Given the description of an element on the screen output the (x, y) to click on. 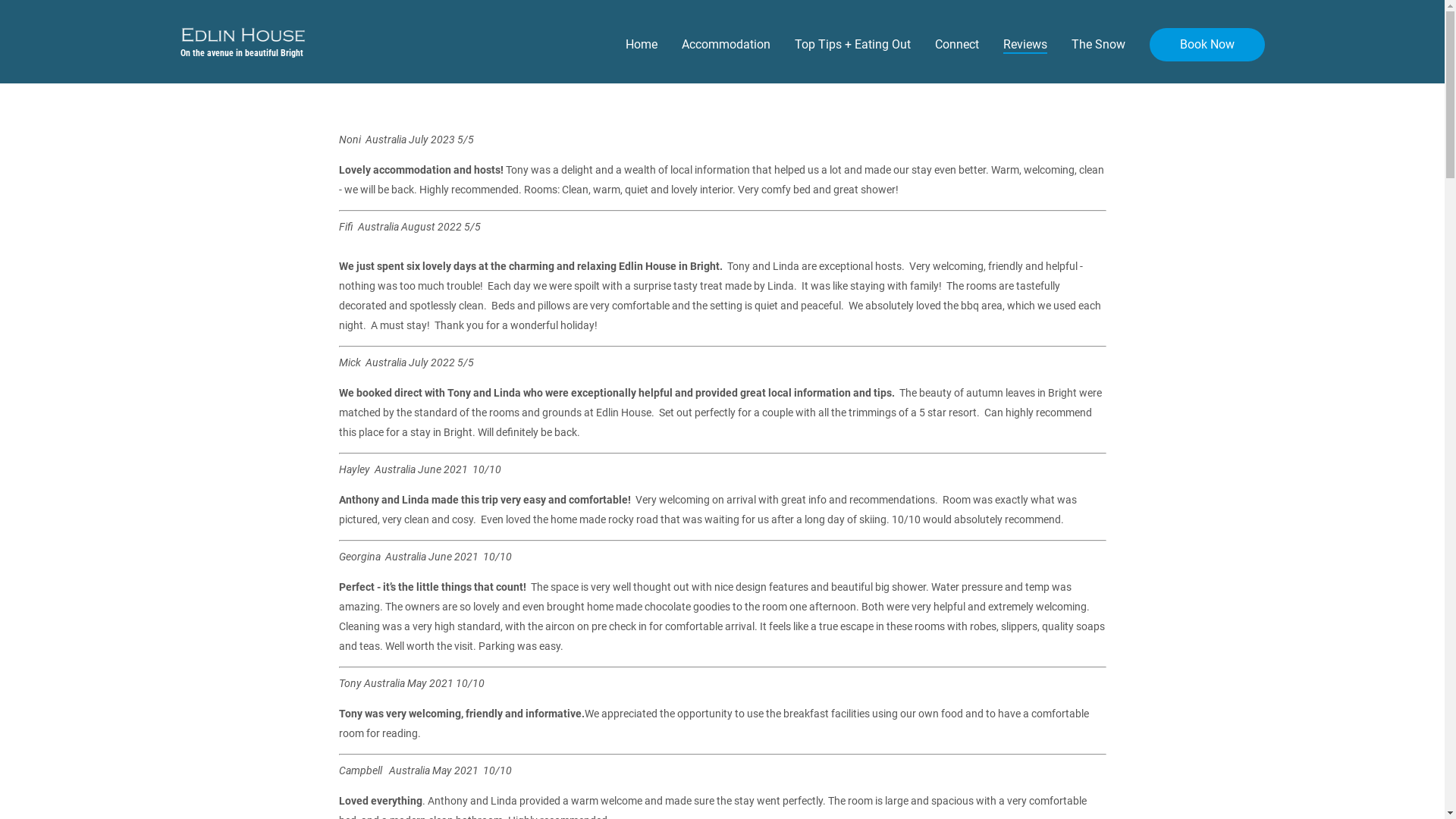
Accommodation Element type: text (724, 45)
Home Element type: text (640, 45)
Book Now Element type: text (1206, 44)
Top Tips + Eating Out Element type: text (852, 45)
The Snow Element type: text (1097, 45)
Connect Element type: text (956, 45)
Reviews Element type: text (1024, 45)
Image Title Element type: hover (242, 34)
On the avenue in beautiful Bright Element type: text (242, 44)
